Given the description of an element on the screen output the (x, y) to click on. 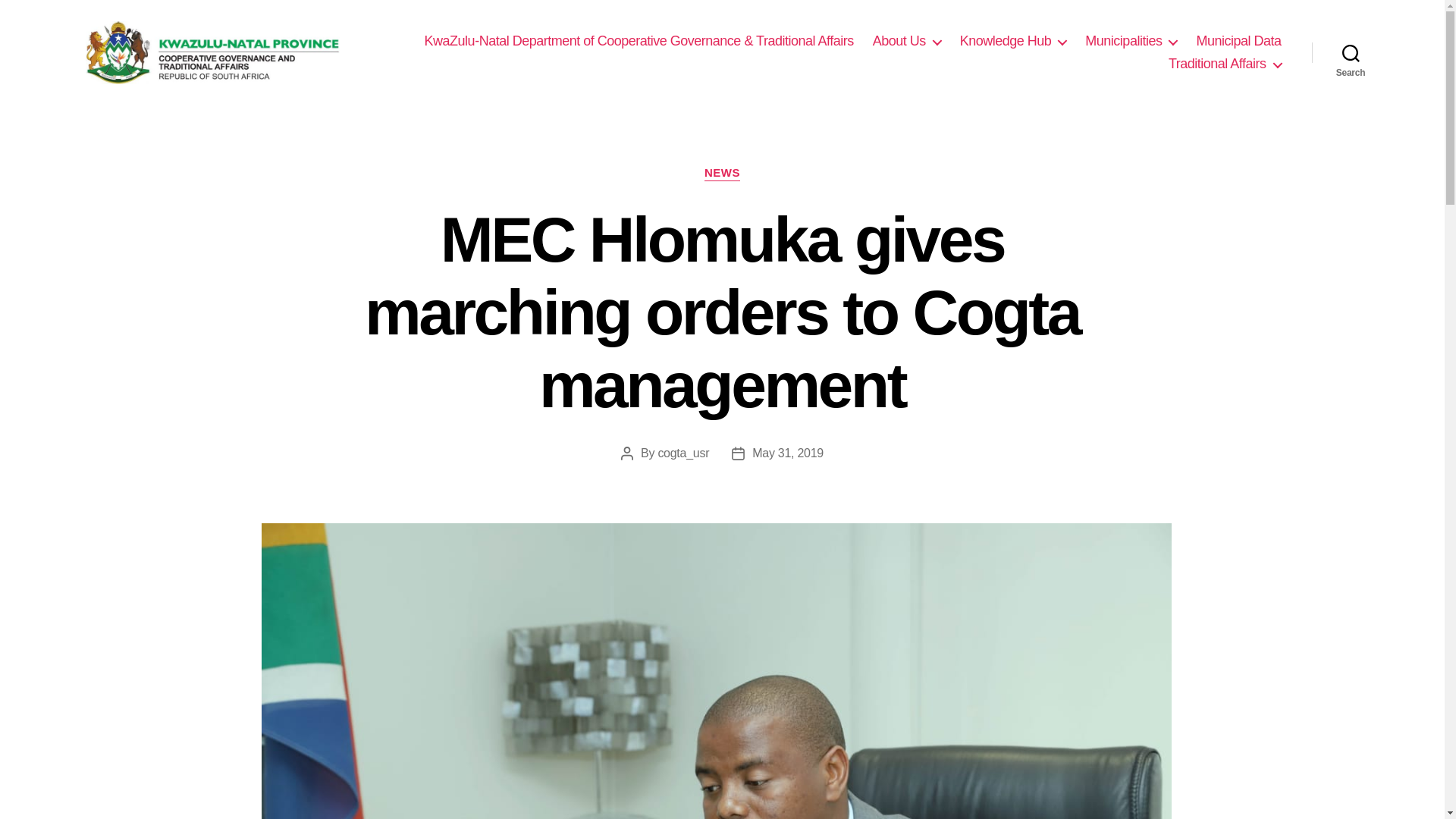
About Us (906, 41)
Municipalities (1130, 41)
Knowledge Hub (1013, 41)
